Given the description of an element on the screen output the (x, y) to click on. 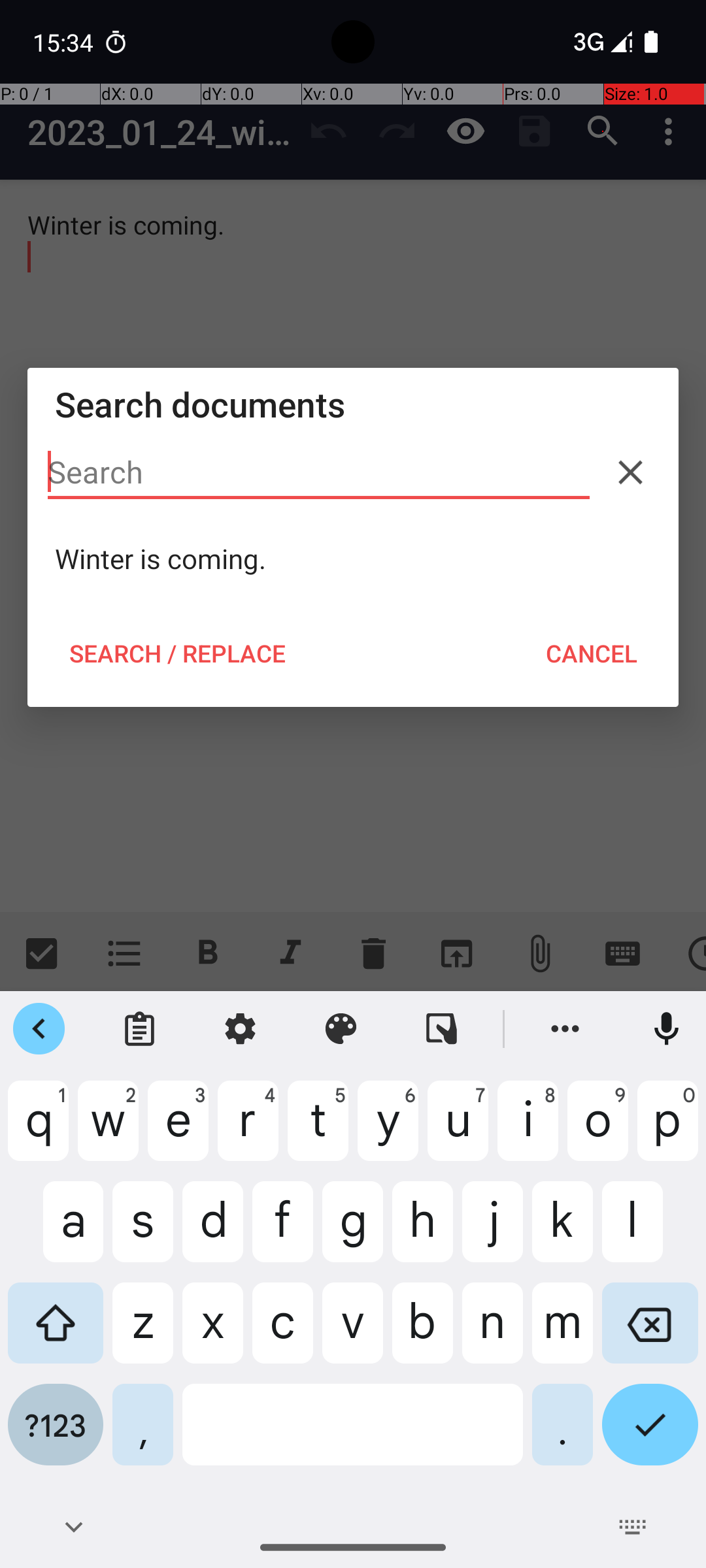
Winter is coming. Element type: android.widget.TextView (352, 558)
